Given the description of an element on the screen output the (x, y) to click on. 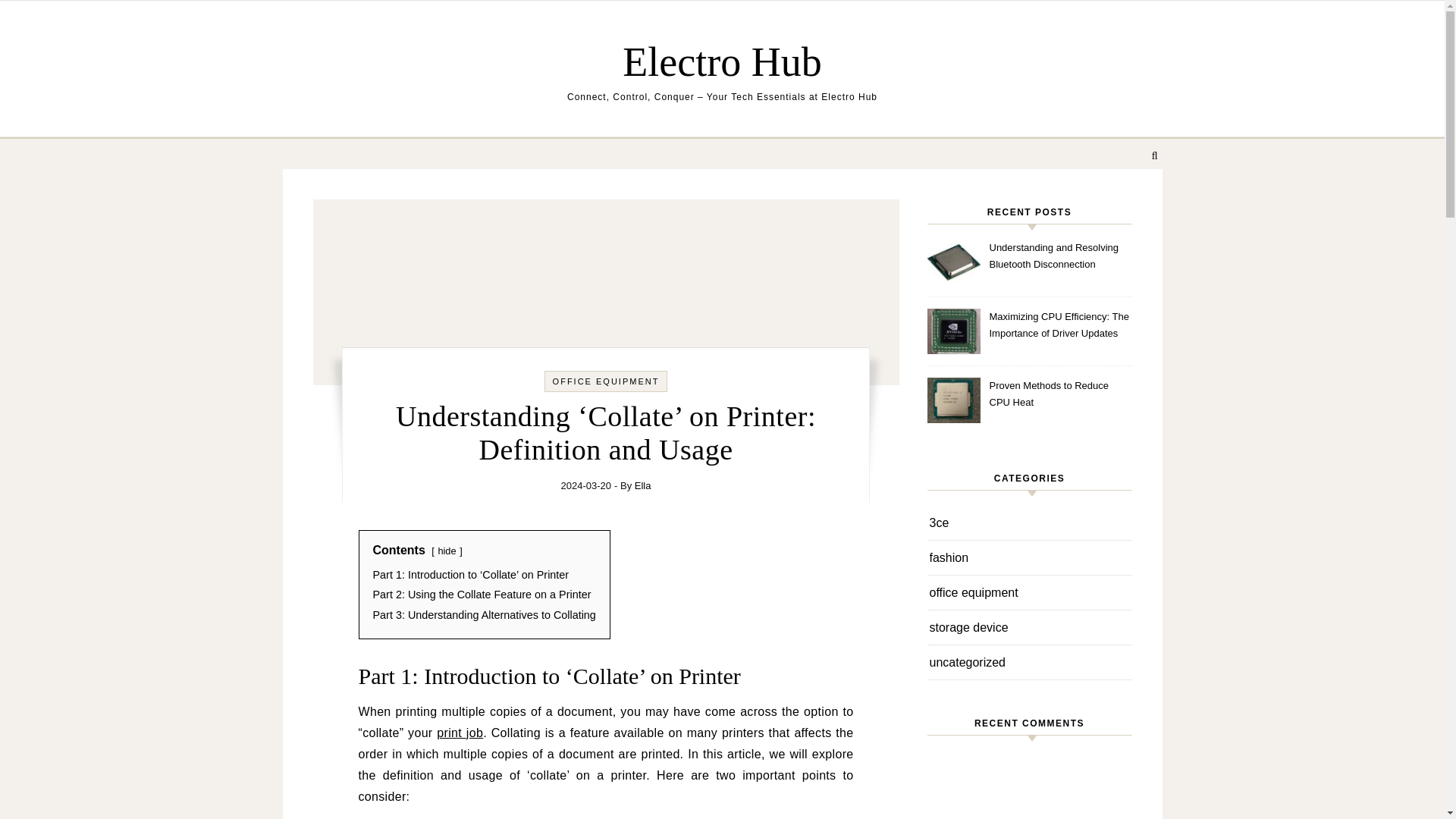
Part 3: Understanding Alternatives to Collating (483, 614)
Posts by Ella (642, 485)
Understanding and Resolving Bluetooth Disconnection Problems (1058, 256)
Electro Hub (721, 61)
print job (459, 732)
Ella (642, 485)
Part 2: Using the Collate Feature on a Printer (481, 594)
fashion (949, 557)
Proven Methods to Reduce CPU Heat (1058, 394)
office equipment (973, 592)
